Given the description of an element on the screen output the (x, y) to click on. 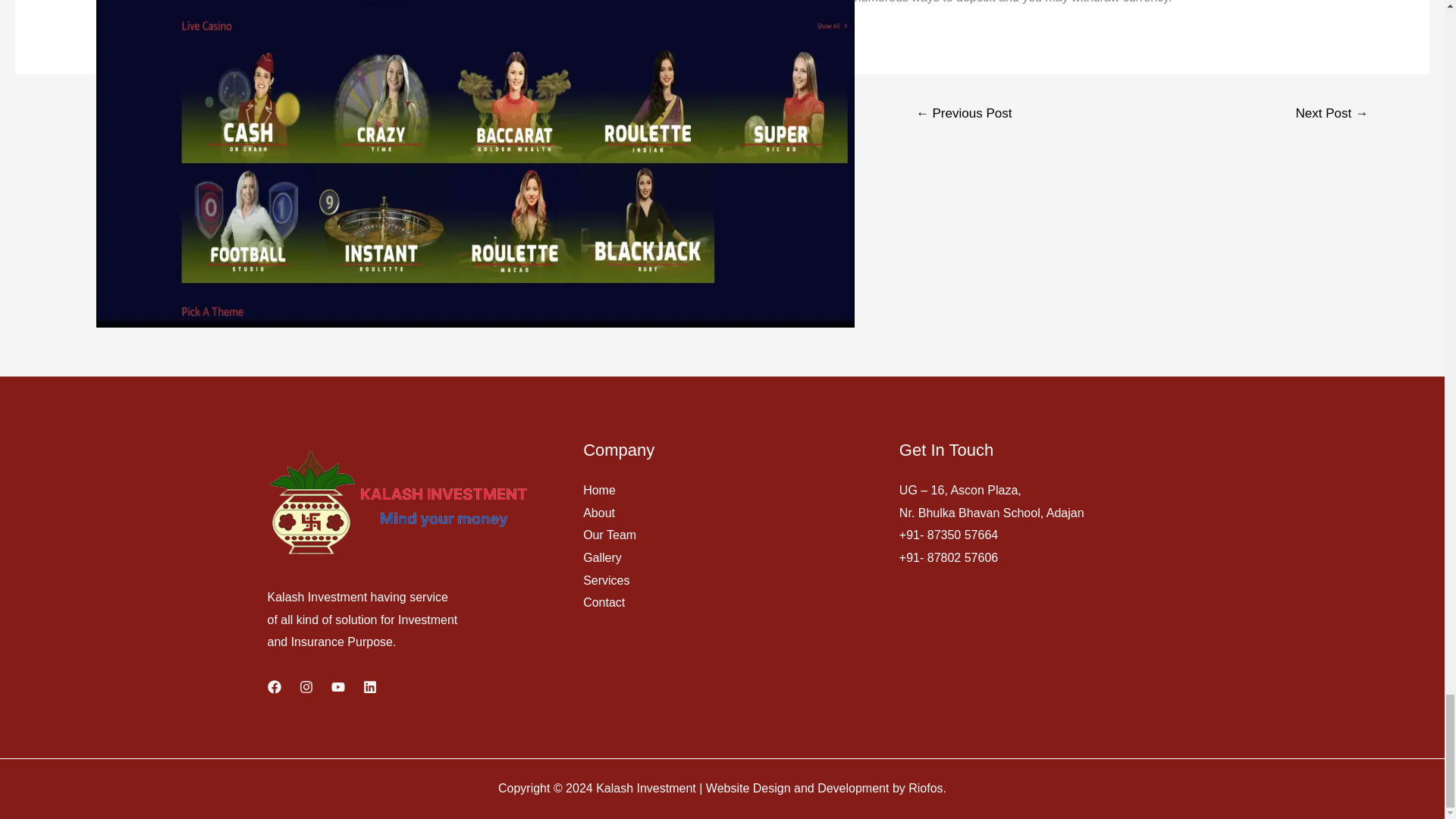
About (598, 512)
Services (605, 580)
Gallery (602, 557)
Our Team (609, 534)
Contact (603, 602)
Home (599, 490)
Riofos (925, 788)
